Given the description of an element on the screen output the (x, y) to click on. 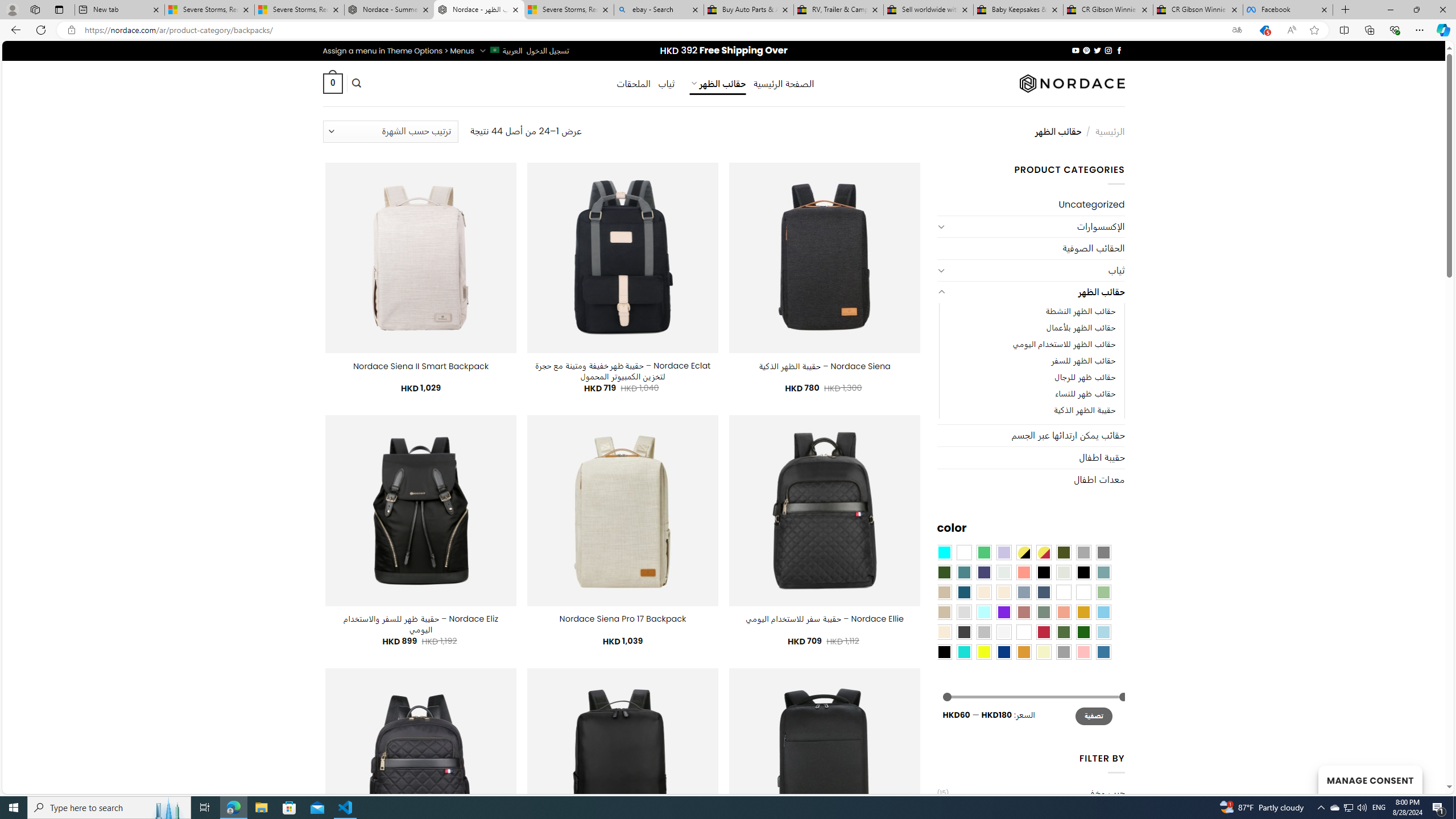
Follow on Pinterest (1086, 50)
Follow on Facebook (1118, 50)
MANAGE CONSENT (1369, 779)
Follow on YouTube (1074, 50)
Clear (963, 551)
Uncategorized (1030, 204)
Buy Auto Parts & Accessories | eBay (747, 9)
Rose (1023, 611)
Light-Gray (963, 611)
